Given the description of an element on the screen output the (x, y) to click on. 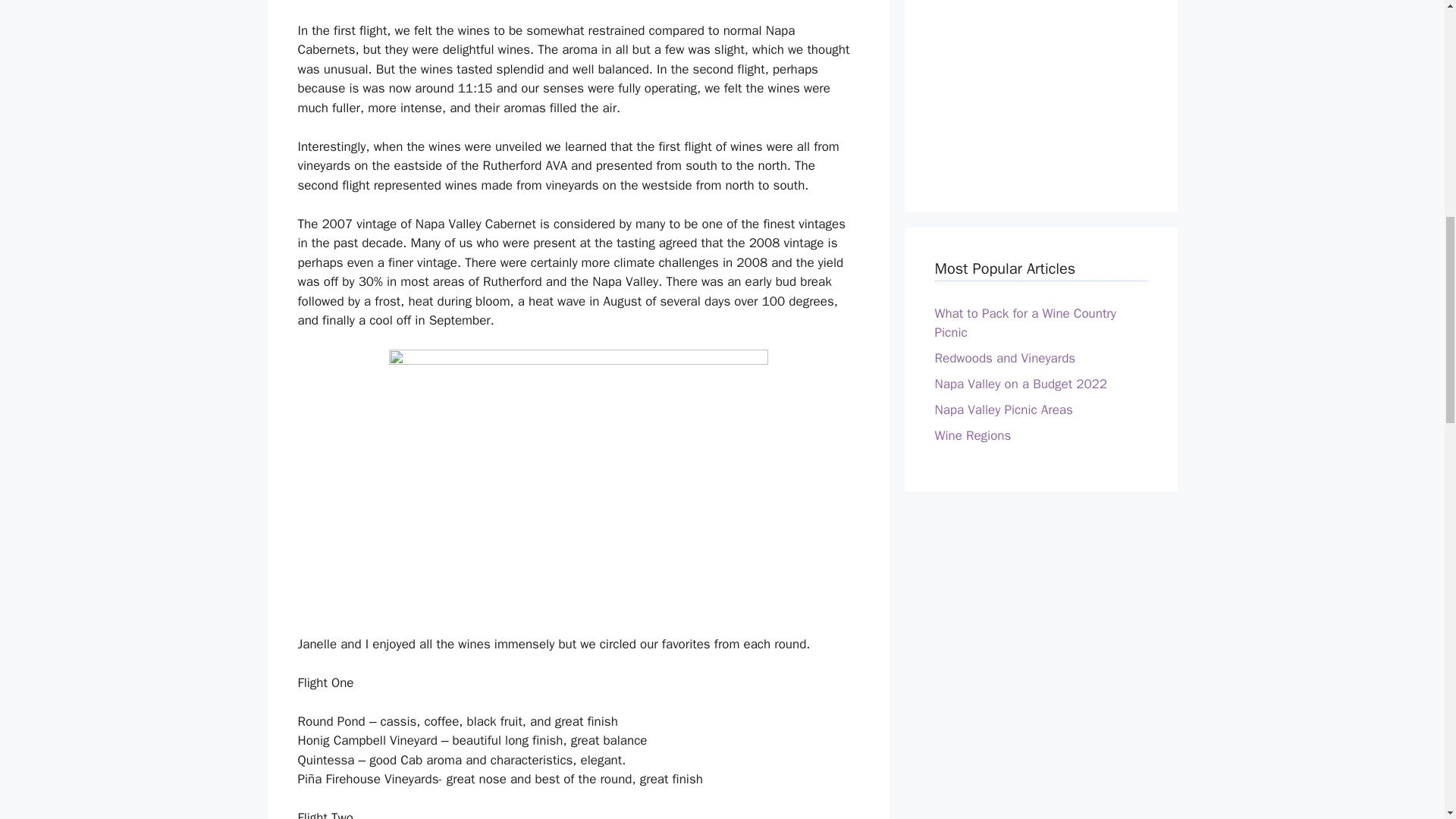
rutherford-ava-wines (577, 482)
Advertisement (1040, 87)
